Given the description of an element on the screen output the (x, y) to click on. 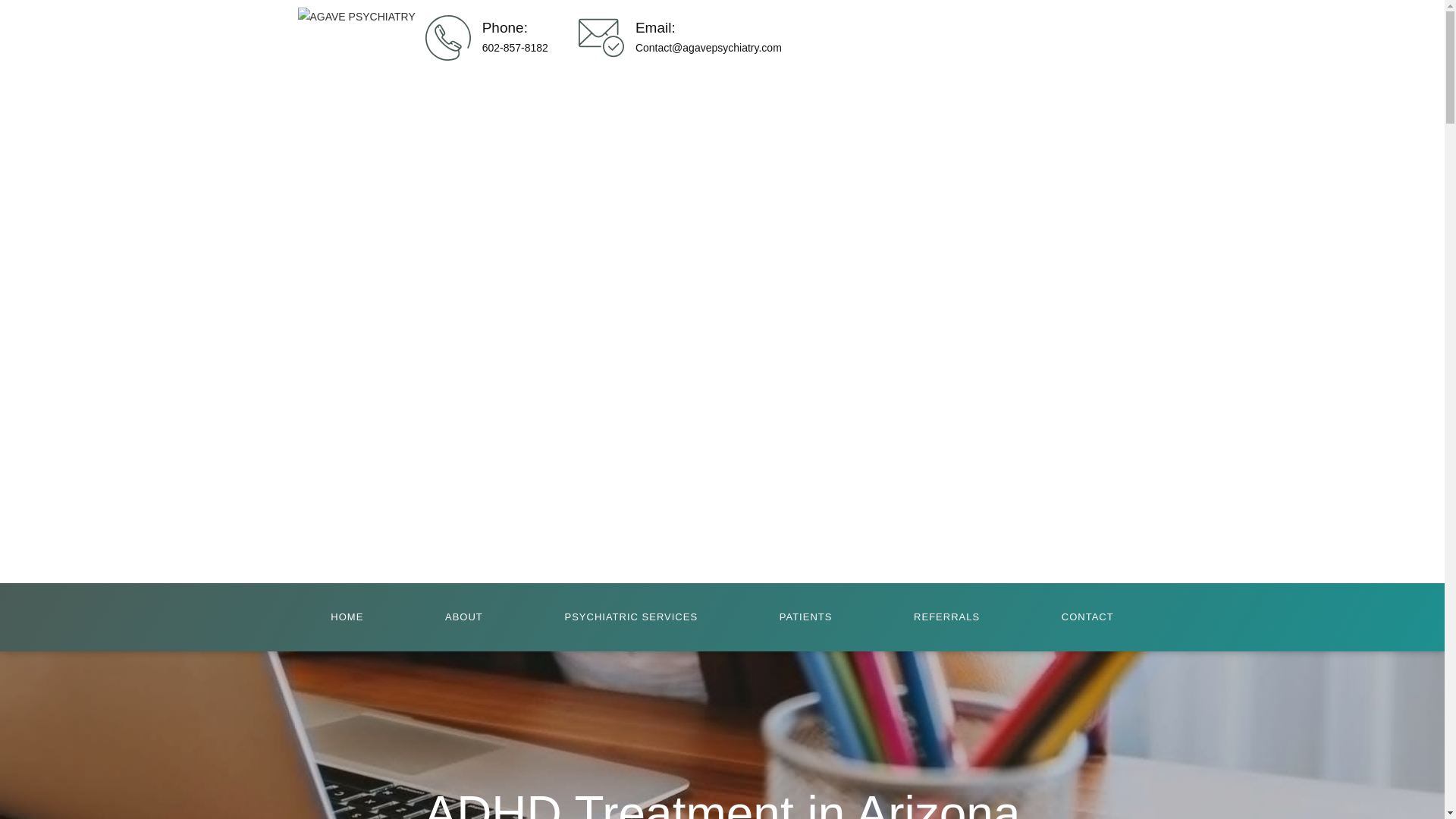
REFERRALS (946, 616)
HOME (346, 616)
PATIENTS (804, 616)
Email: (654, 27)
CONTACT (1087, 616)
ABOUT (463, 616)
PSYCHIATRIC SERVICES (630, 616)
Phone: (504, 27)
